Given the description of an element on the screen output the (x, y) to click on. 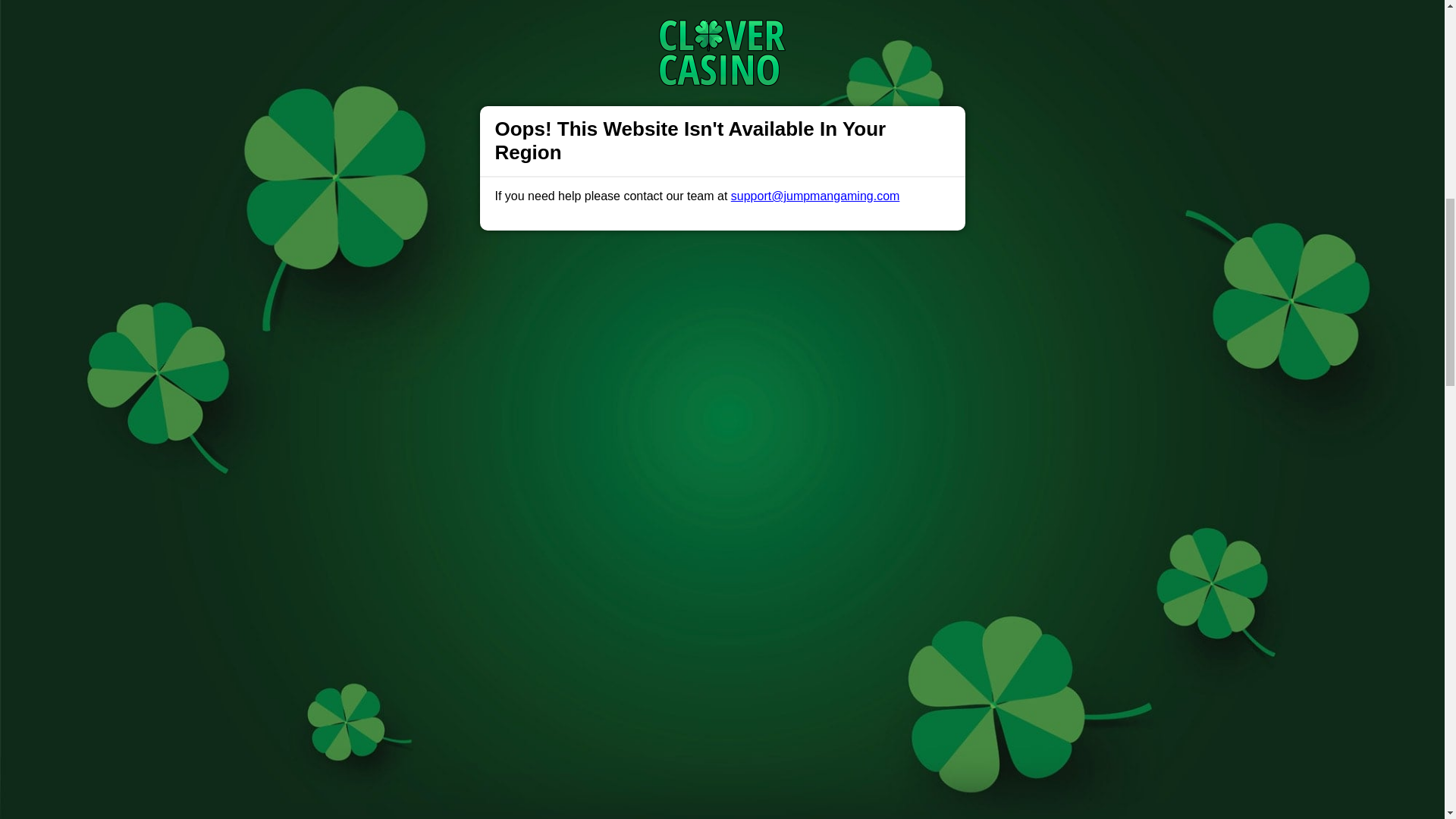
Gladiator Legends (546, 101)
Vikings Go Berzerk (424, 758)
Dead or Alive (408, 495)
Big Bad Bison (975, 47)
Thunderstruck II (440, 277)
Pink Elephants 2 (418, 646)
